Given the description of an element on the screen output the (x, y) to click on. 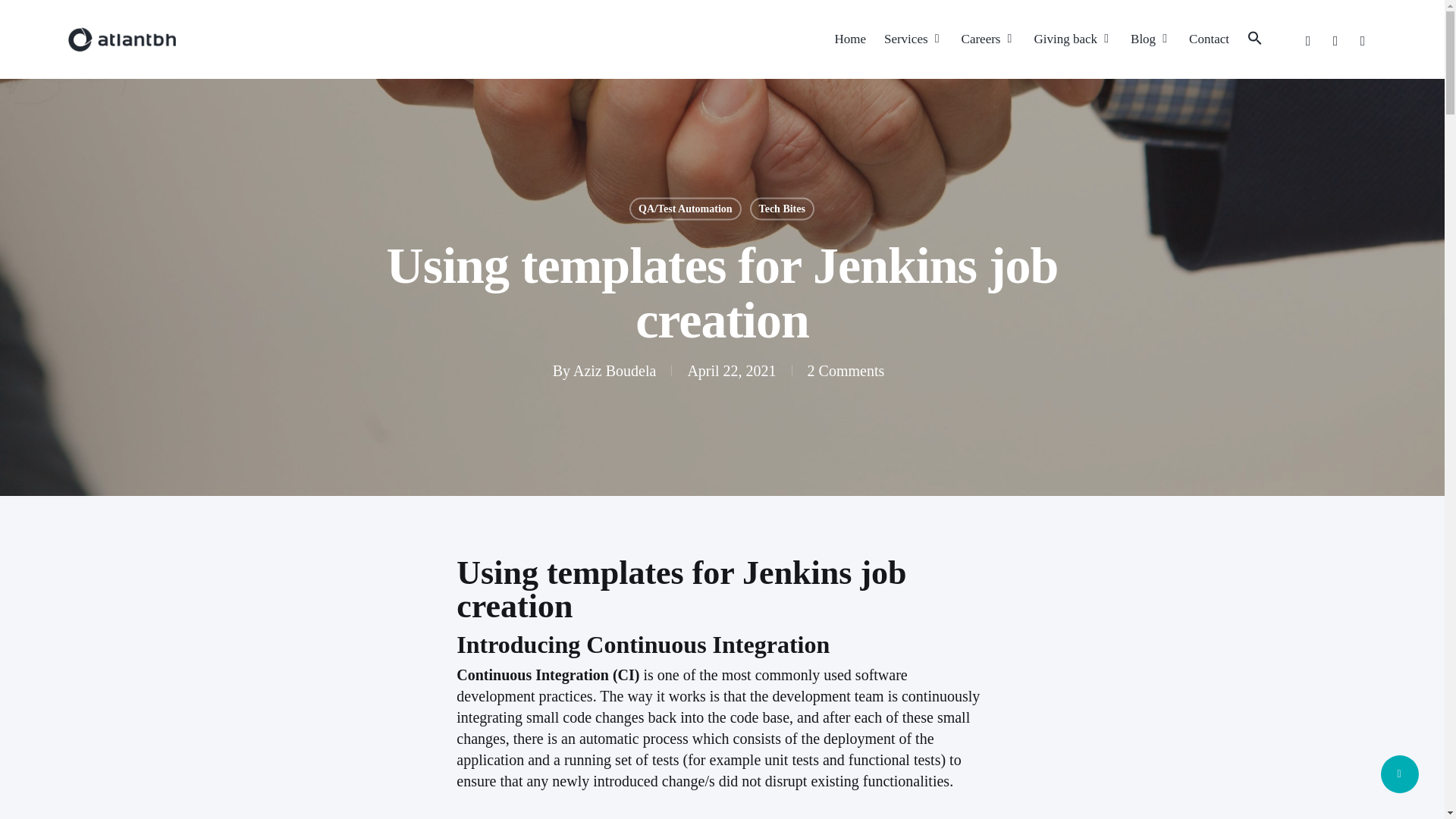
Giving back (1072, 38)
Posts by Aziz Boudela (614, 370)
Careers (988, 38)
Blog (1150, 38)
Services (913, 38)
Contact (1208, 38)
Home (850, 38)
